Given the description of an element on the screen output the (x, y) to click on. 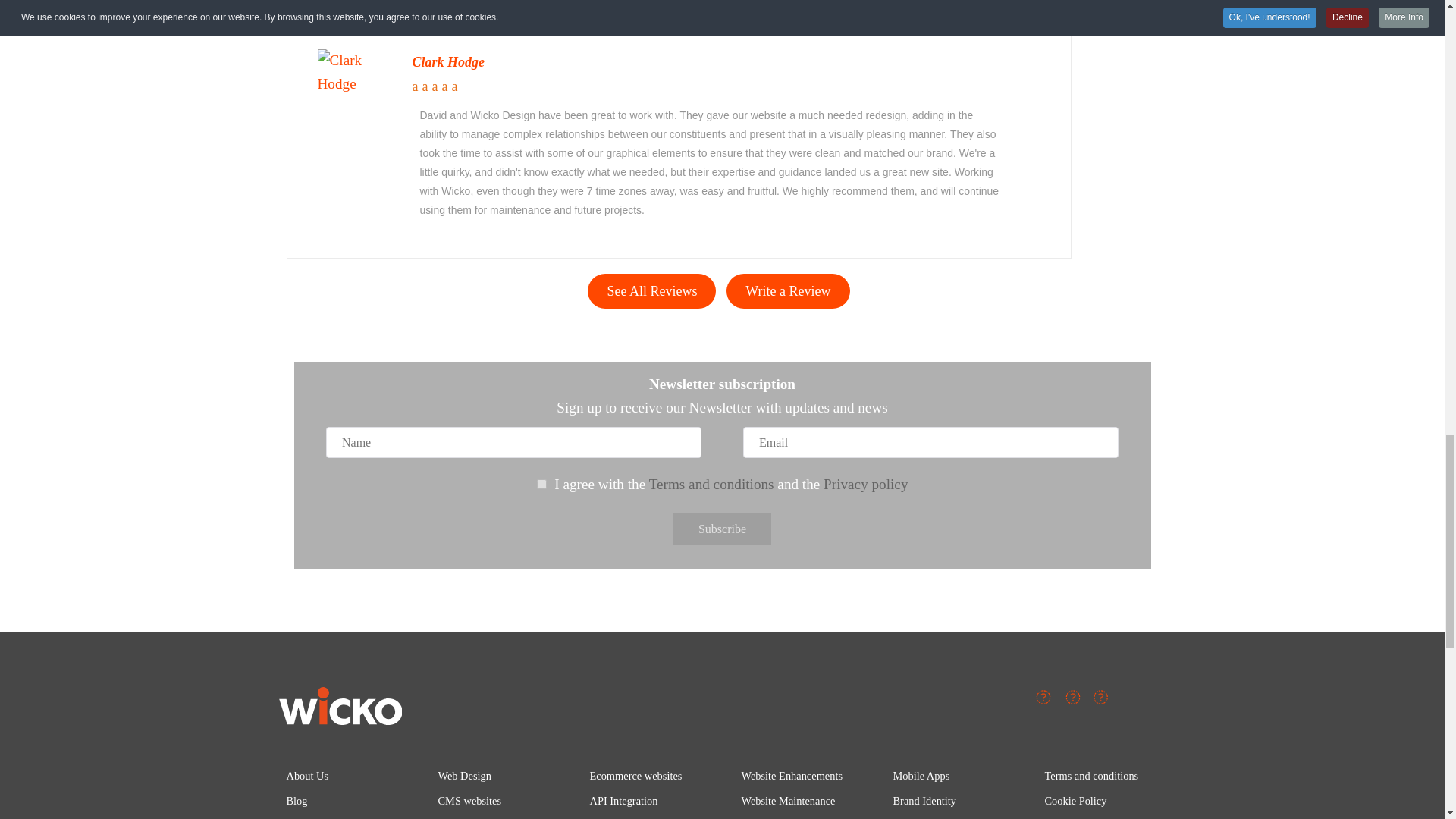
Clark Hodge (448, 61)
Terms and conditions (711, 483)
Clark Hodge (355, 70)
Subscribe (721, 529)
on (542, 483)
Clark Hodge (355, 72)
Terms and conditions (542, 483)
